Given the description of an element on the screen output the (x, y) to click on. 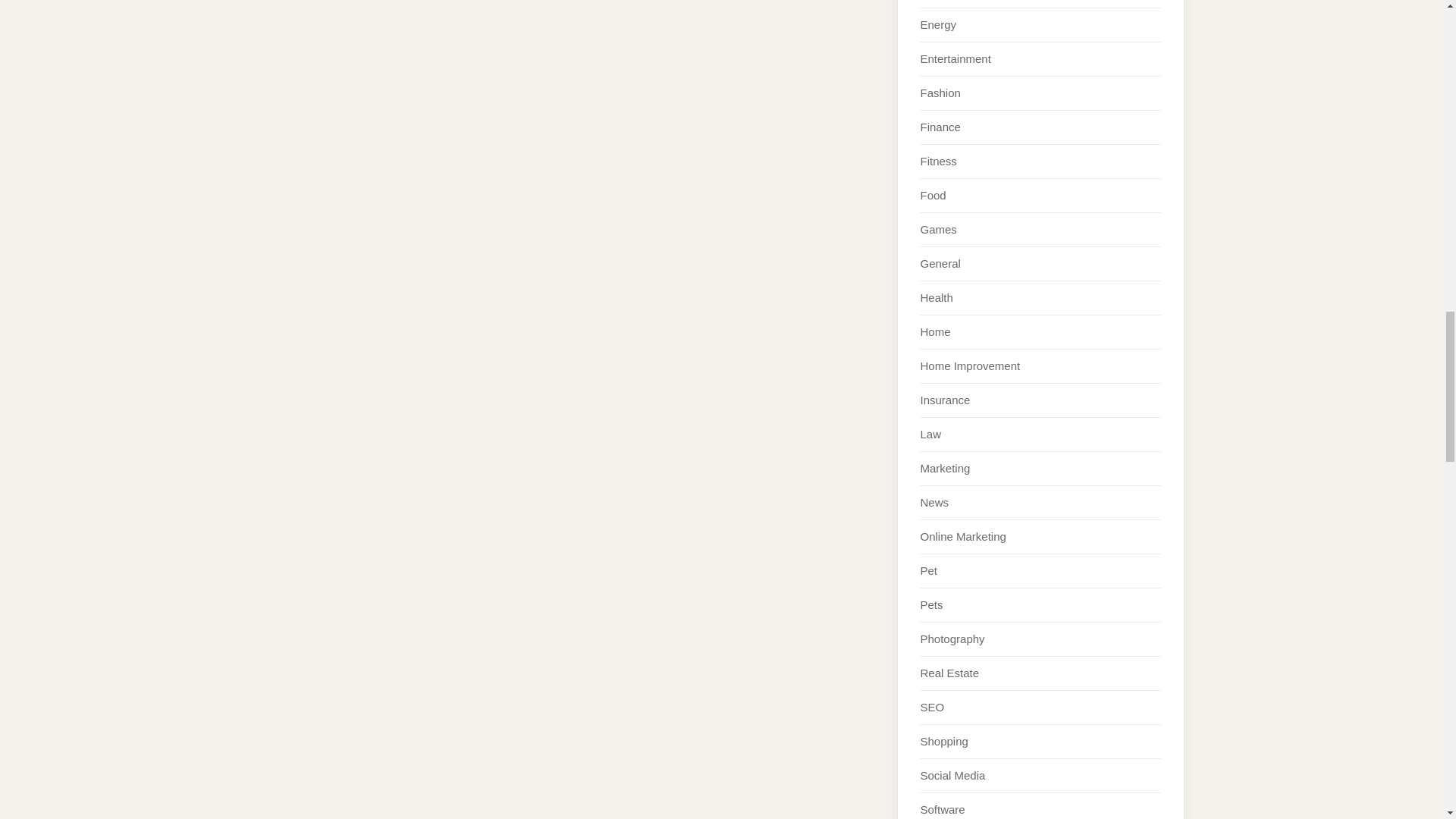
Games (938, 228)
Entertainment (955, 58)
Energy (938, 24)
Food (933, 195)
Fashion (940, 92)
Finance (940, 126)
Fitness (938, 160)
